Given the description of an element on the screen output the (x, y) to click on. 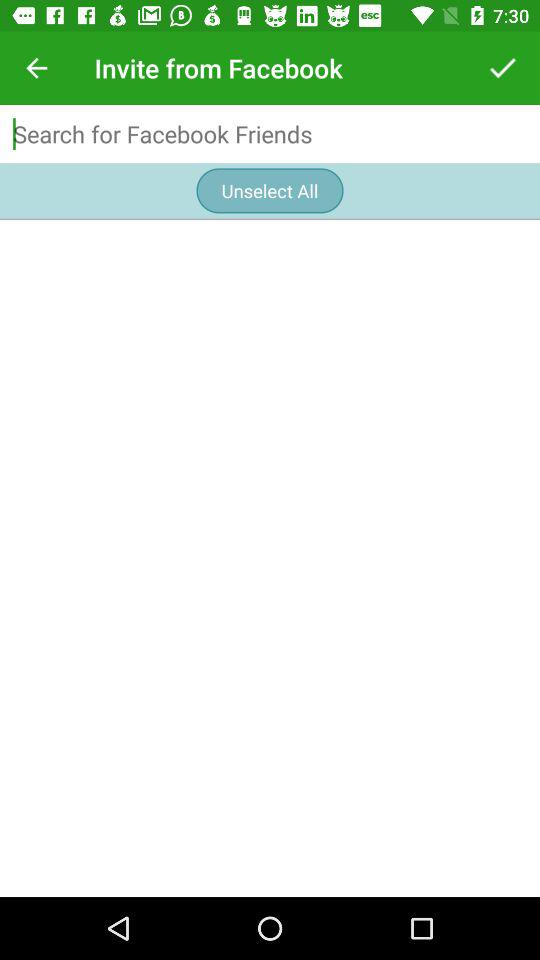
turn on the app to the left of invite from facebook icon (36, 68)
